Given the description of an element on the screen output the (x, y) to click on. 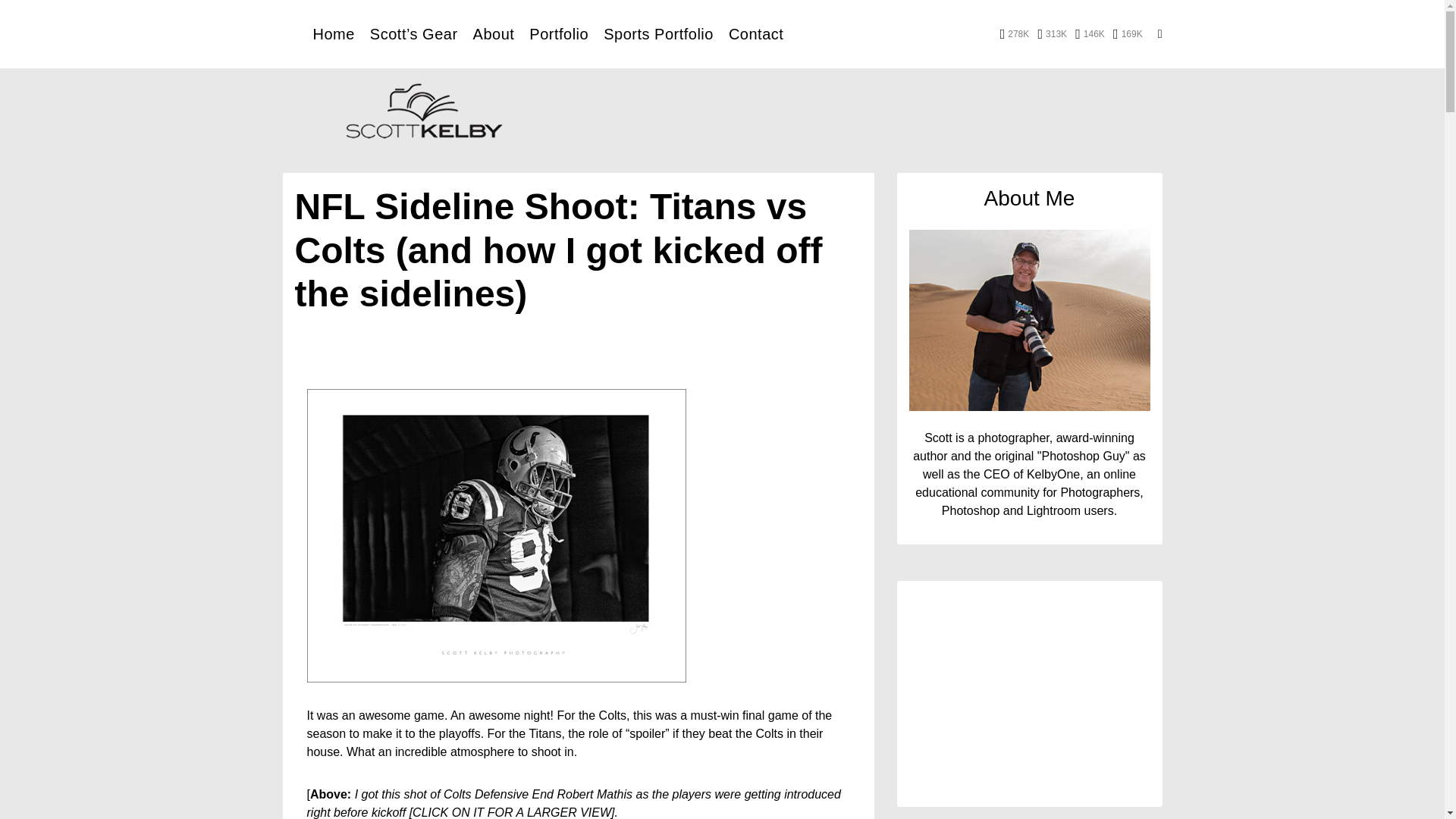
Contact (756, 33)
278K (1014, 33)
colts1sm (495, 535)
169K (1127, 33)
About (494, 33)
Home (333, 33)
313K (1051, 33)
Sports Portfolio (658, 33)
3rd party ad content (878, 114)
Portfolio (558, 33)
3rd party ad content (1028, 699)
146K (1090, 33)
